Given the description of an element on the screen output the (x, y) to click on. 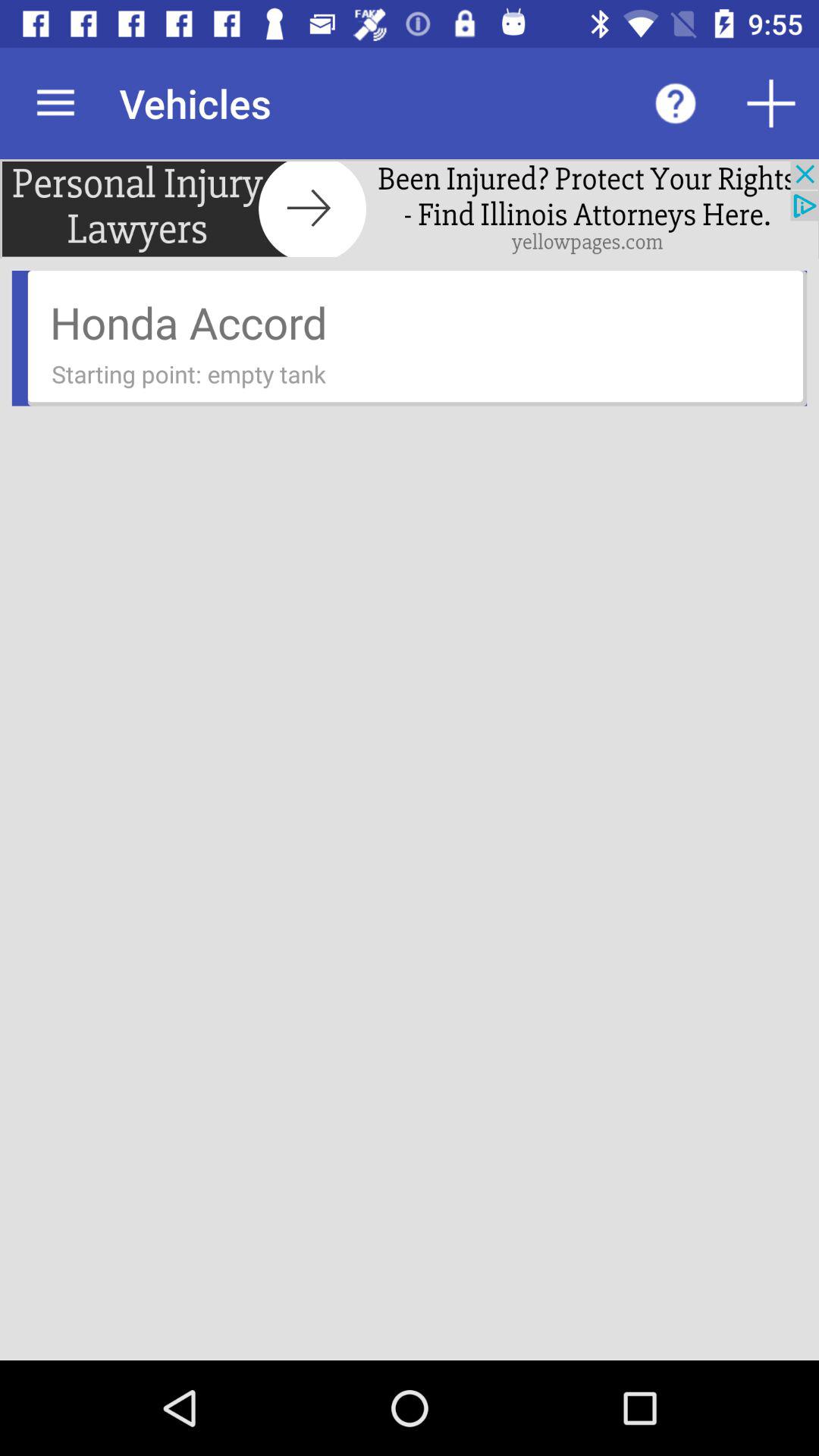
help option (675, 103)
